Given the description of an element on the screen output the (x, y) to click on. 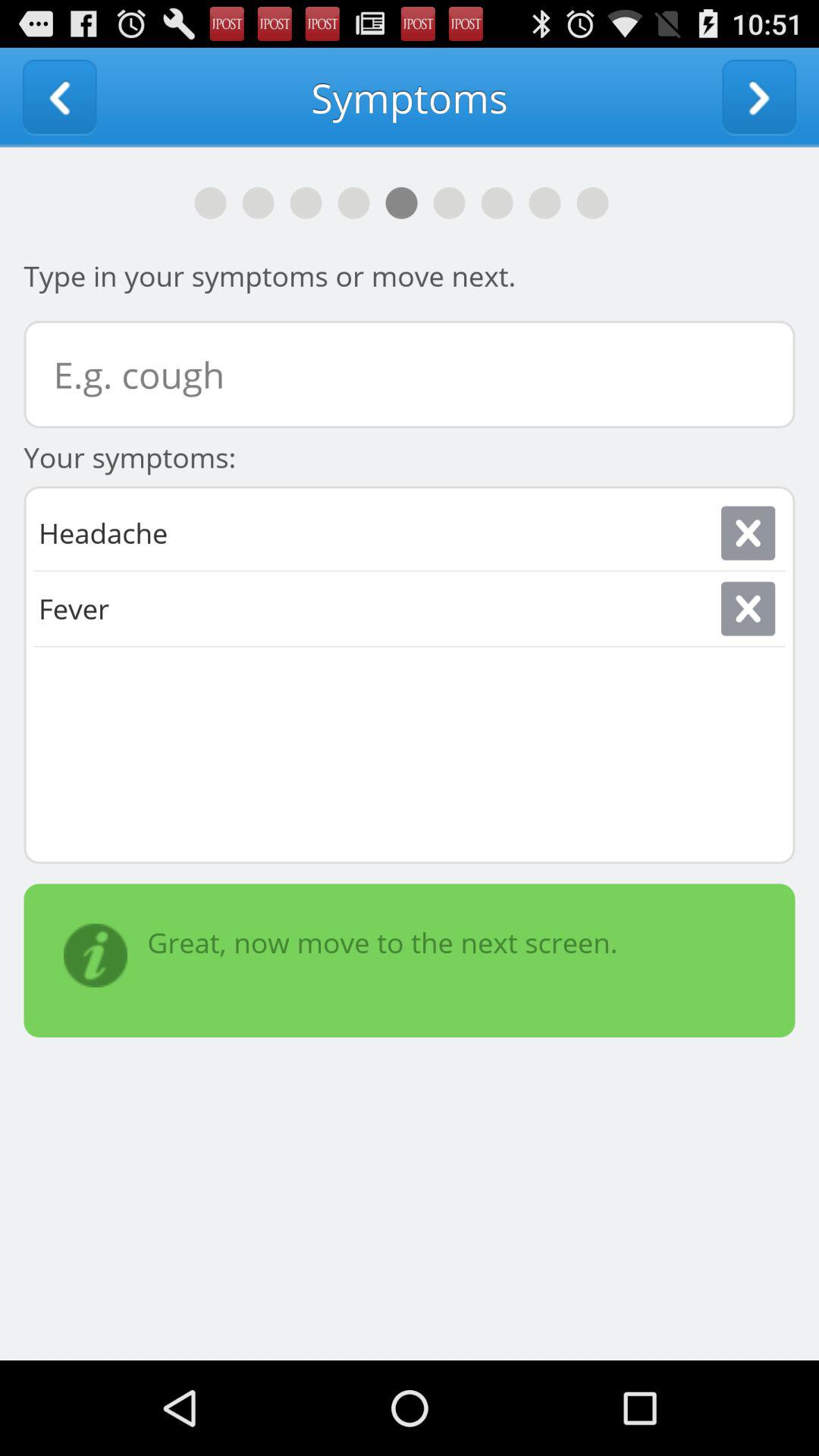
close (748, 608)
